Given the description of an element on the screen output the (x, y) to click on. 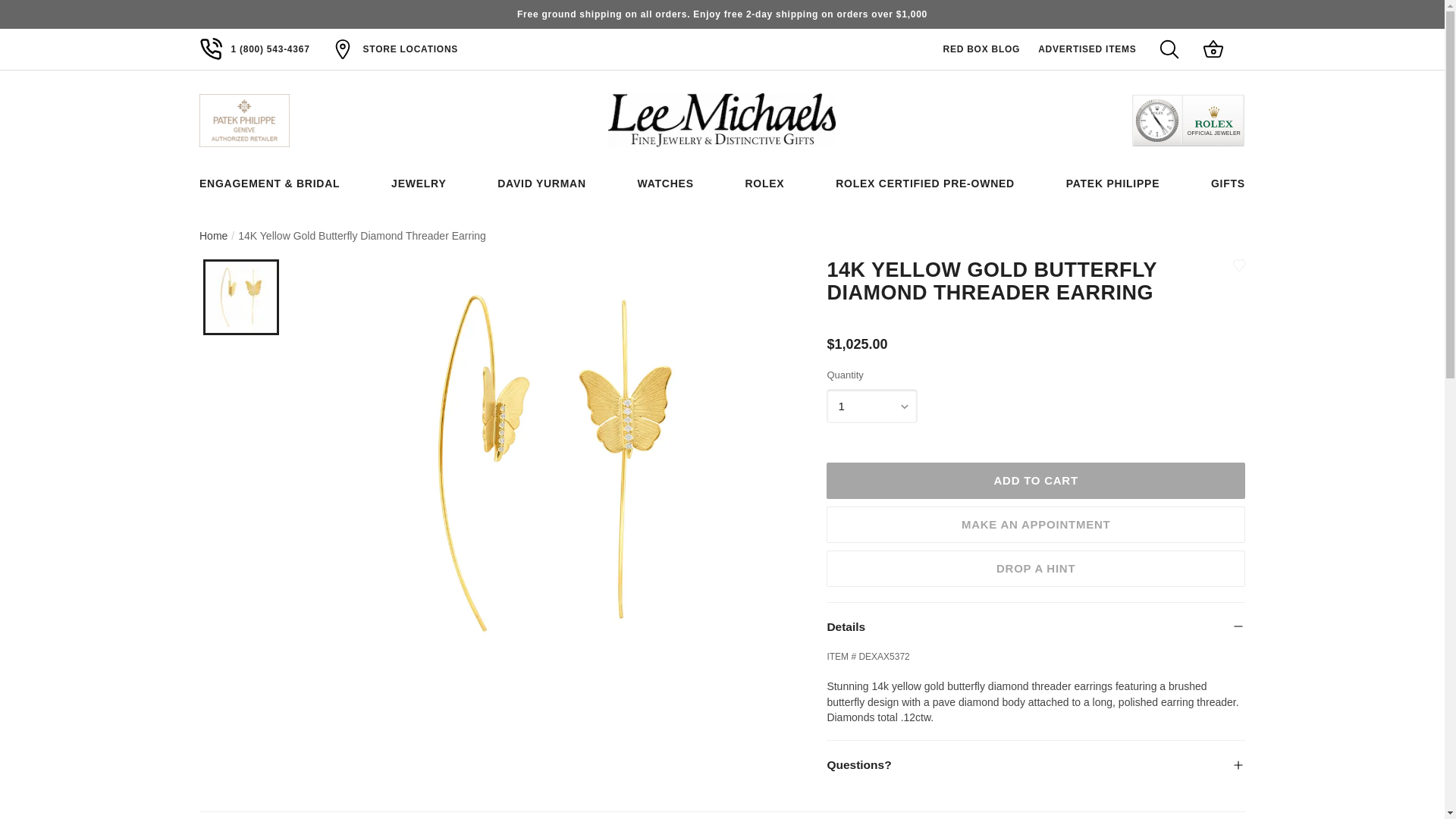
WATCHES (665, 183)
Add to Wishlist (1238, 265)
MAKE AN APPOINTMENT (1035, 524)
ADD TO CART (1035, 480)
Rolex Official Retailer (1187, 120)
ROLEX CERTIFIED PRE-OWNED (925, 183)
Home (213, 235)
ADVERTISED ITEMS (1082, 49)
STORE LOCATIONS (410, 49)
DROP A HINT (1035, 568)
